Given the description of an element on the screen output the (x, y) to click on. 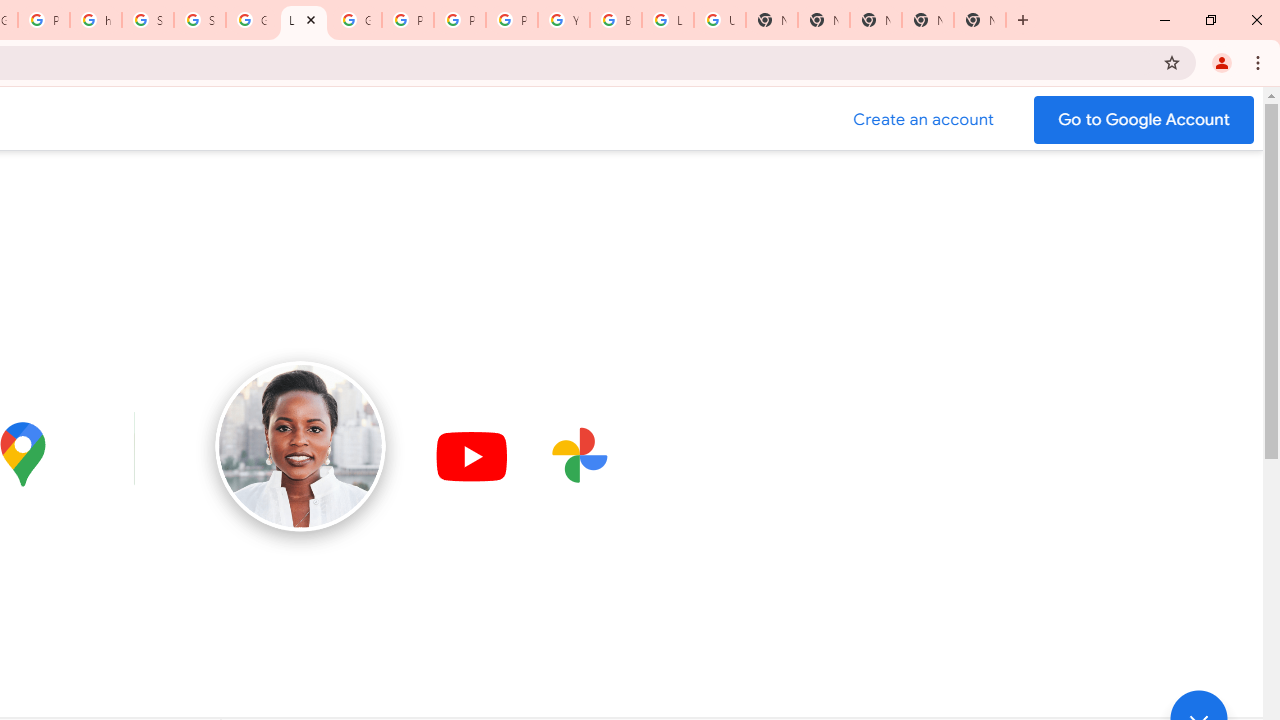
https://scholar.google.com/ (95, 20)
Browse Chrome as a guest - Computer - Google Chrome Help (616, 20)
New Tab (979, 20)
Create a Google Account (923, 119)
New Tab (875, 20)
Sign in - Google Accounts (147, 20)
